Given the description of an element on the screen output the (x, y) to click on. 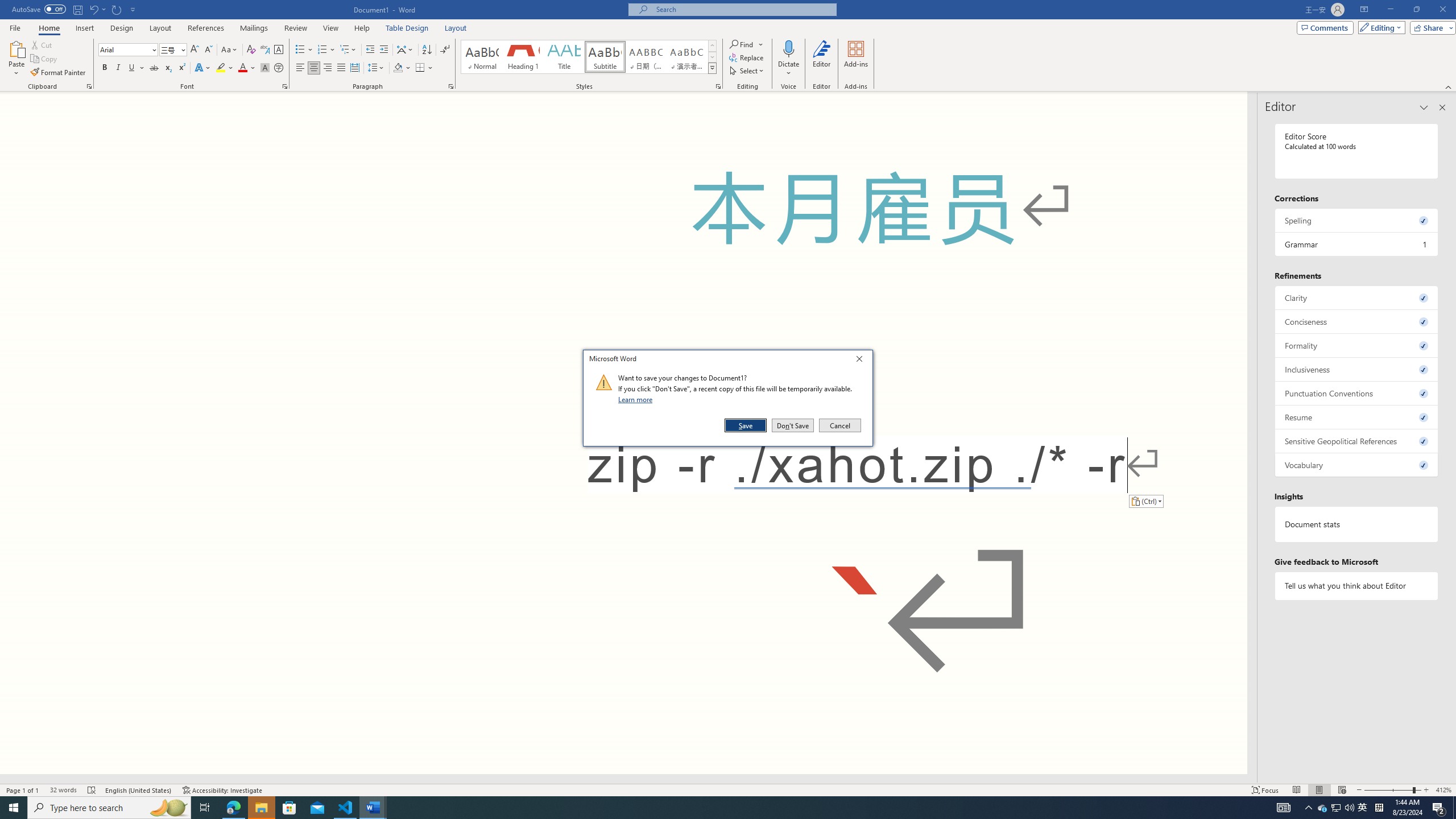
Word - 2 running windows (373, 807)
Word Count 32 words (63, 790)
Tell us what you think about Editor (1356, 586)
Document statistics (1356, 524)
